Given the description of an element on the screen output the (x, y) to click on. 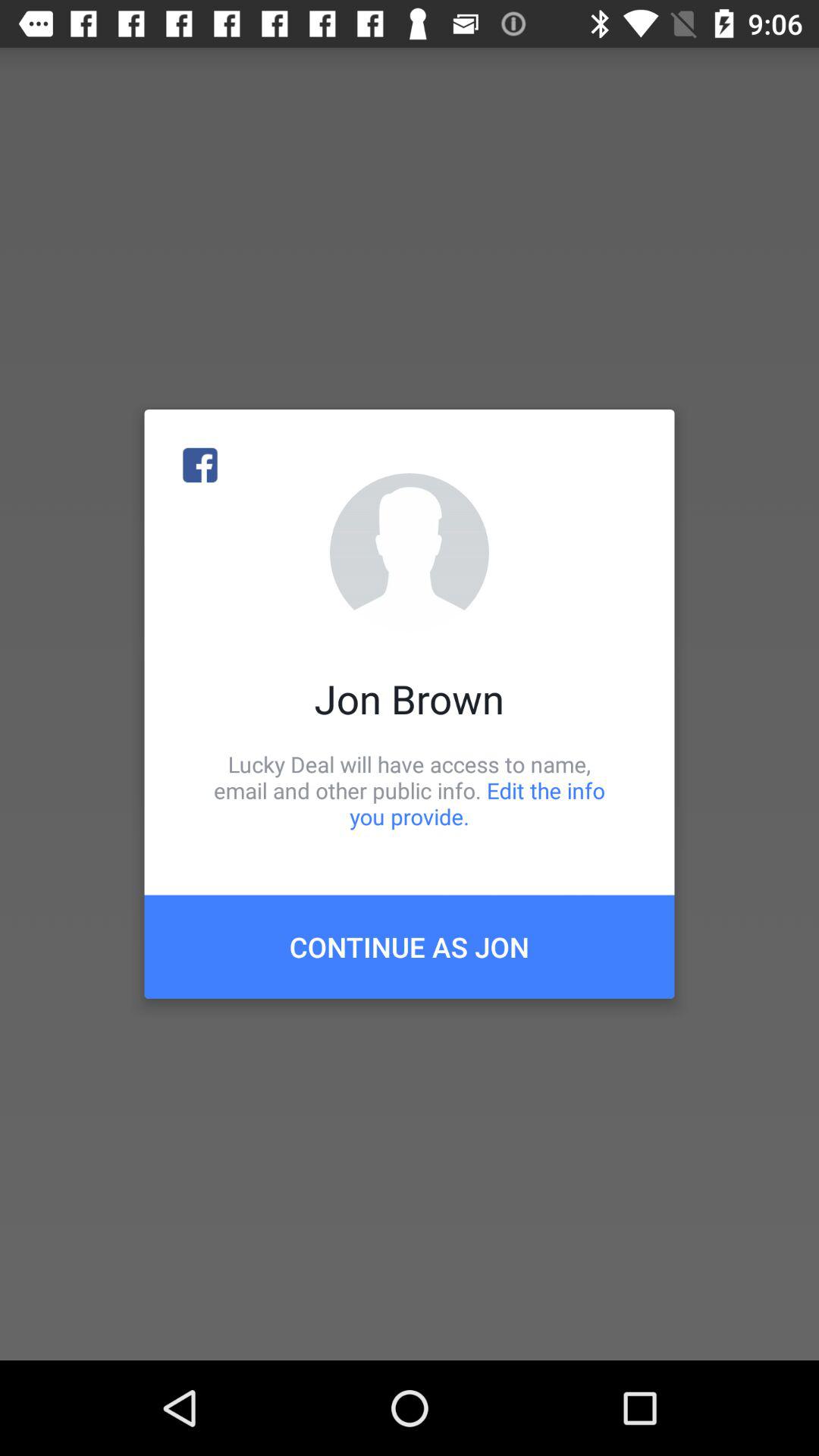
click continue as jon (409, 946)
